Given the description of an element on the screen output the (x, y) to click on. 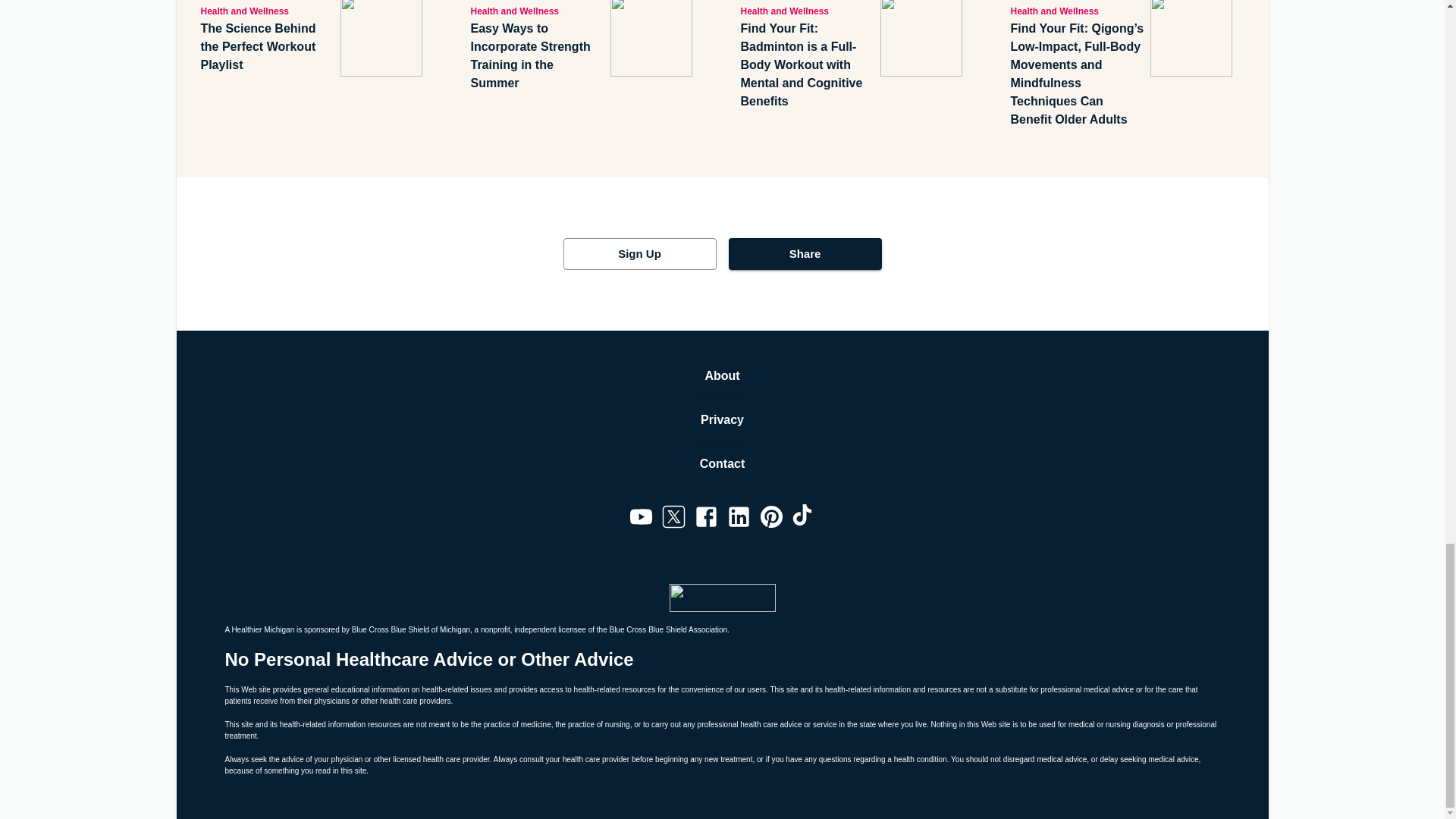
Health and Wellness (807, 10)
Health and Wellness (267, 10)
Share (804, 254)
Health and Wellness (537, 10)
Sign Up (639, 254)
Easy Ways to Incorporate Strength Training in the Summer (537, 55)
Contact (722, 464)
Privacy (722, 420)
The Science Behind the Perfect Workout Playlist (267, 46)
Health and Wellness (1077, 10)
About (721, 375)
